Given the description of an element on the screen output the (x, y) to click on. 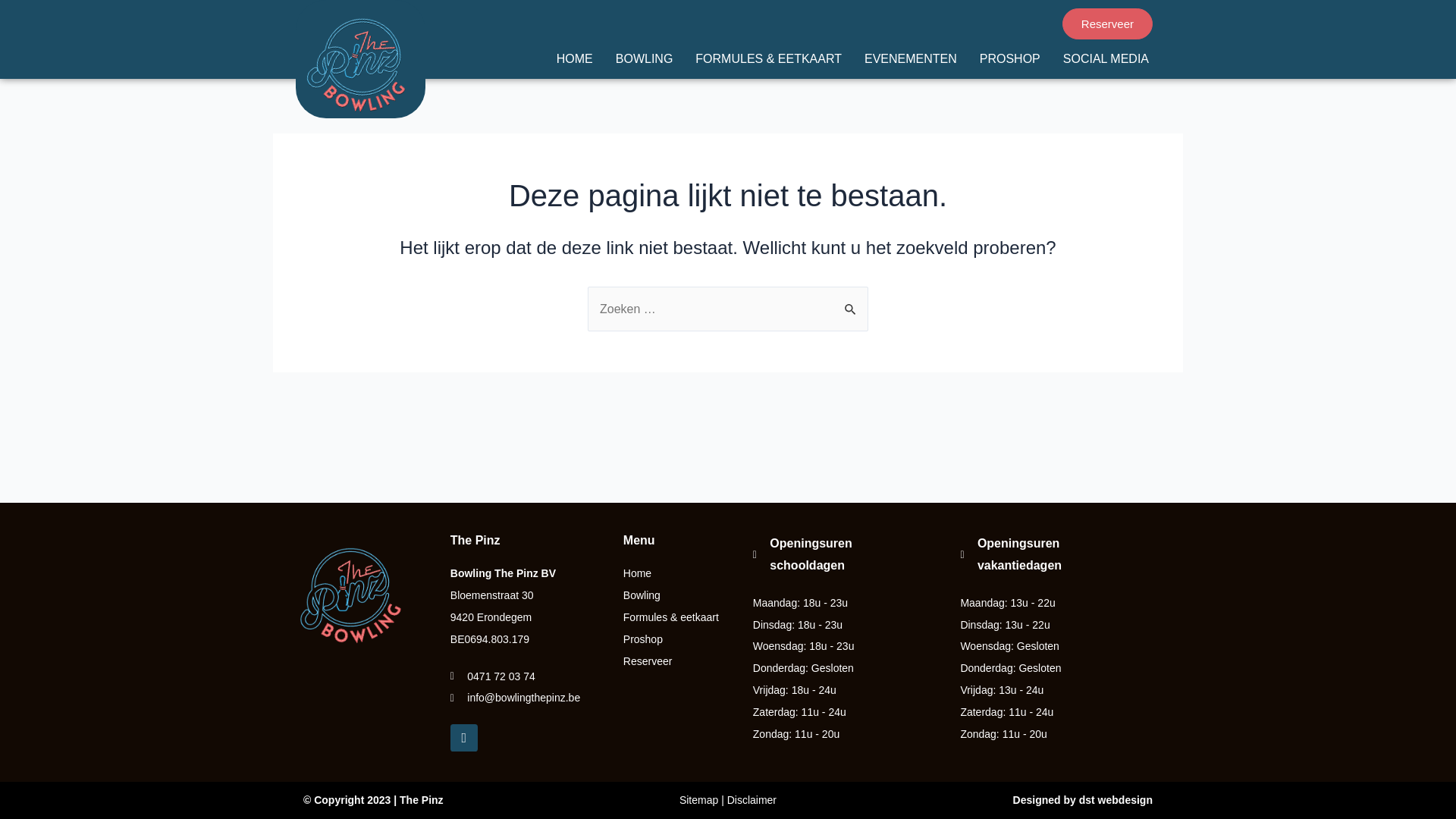
HOME Element type: text (574, 57)
Formules & eetkaart Element type: text (680, 617)
SOCIAL MEDIA Element type: text (1105, 57)
Proshop Element type: text (680, 639)
Reserveer Element type: text (680, 661)
dst webdesign Element type: text (1115, 799)
Reserveer Element type: text (1107, 22)
Home Element type: text (680, 573)
BOWLING Element type: text (644, 57)
Disclaimer Element type: text (751, 799)
PROSHOP Element type: text (1009, 57)
Bowling Element type: text (680, 595)
Sitemap Element type: text (698, 799)
EVENEMENTEN Element type: text (910, 57)
info@bowlingthepinz.be Element type: text (529, 698)
FORMULES & EETKAART Element type: text (768, 57)
Zoeken Element type: text (851, 302)
